Given the description of an element on the screen output the (x, y) to click on. 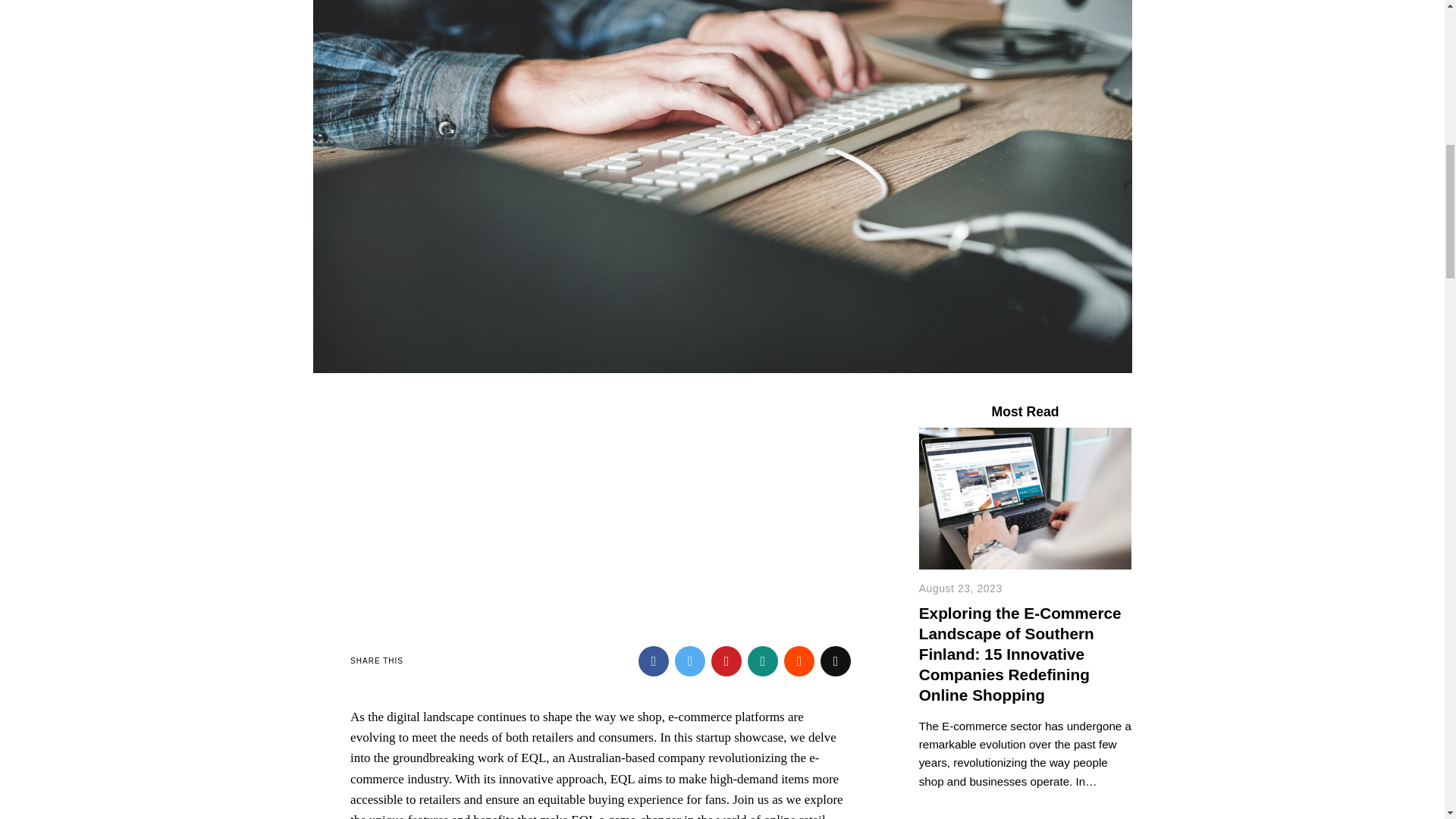
Advertisement (600, 509)
Twitter (689, 661)
Facebook (653, 661)
Email (835, 661)
Whatsapp (762, 661)
Pinterest (726, 661)
Reddit (798, 661)
